Given the description of an element on the screen output the (x, y) to click on. 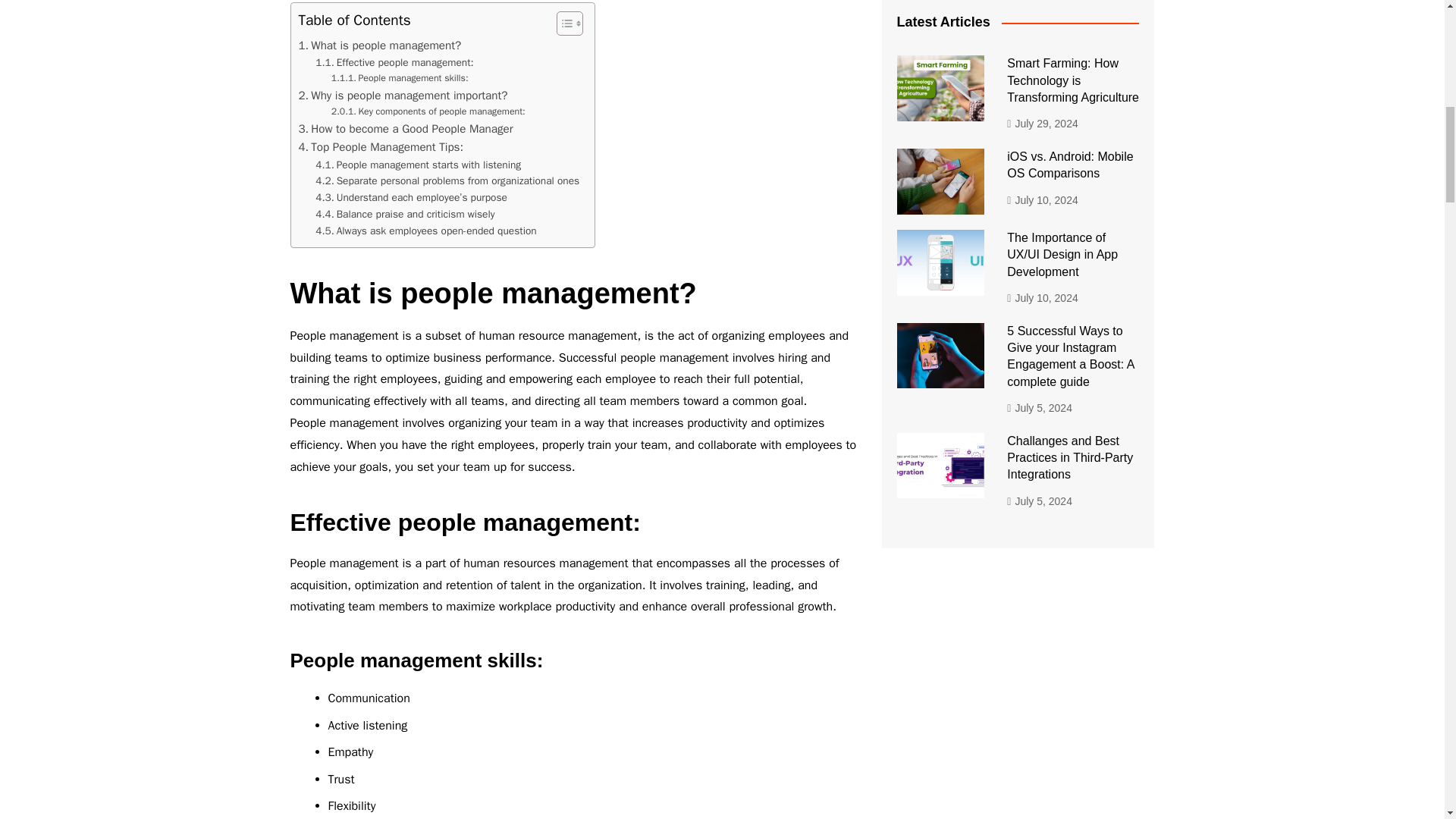
People management starts with listening (418, 164)
Why is people management important? (403, 95)
Separate personal problems from organizational ones (447, 180)
Top People Management Tips: (381, 147)
Effective people management: (394, 62)
Always ask employees open-ended question (425, 230)
Balance praise and criticism wisely (405, 214)
How to become a Good People Manager (405, 128)
What is people management? (379, 45)
People management skills: (399, 78)
Key components of people management: (428, 111)
